Given the description of an element on the screen output the (x, y) to click on. 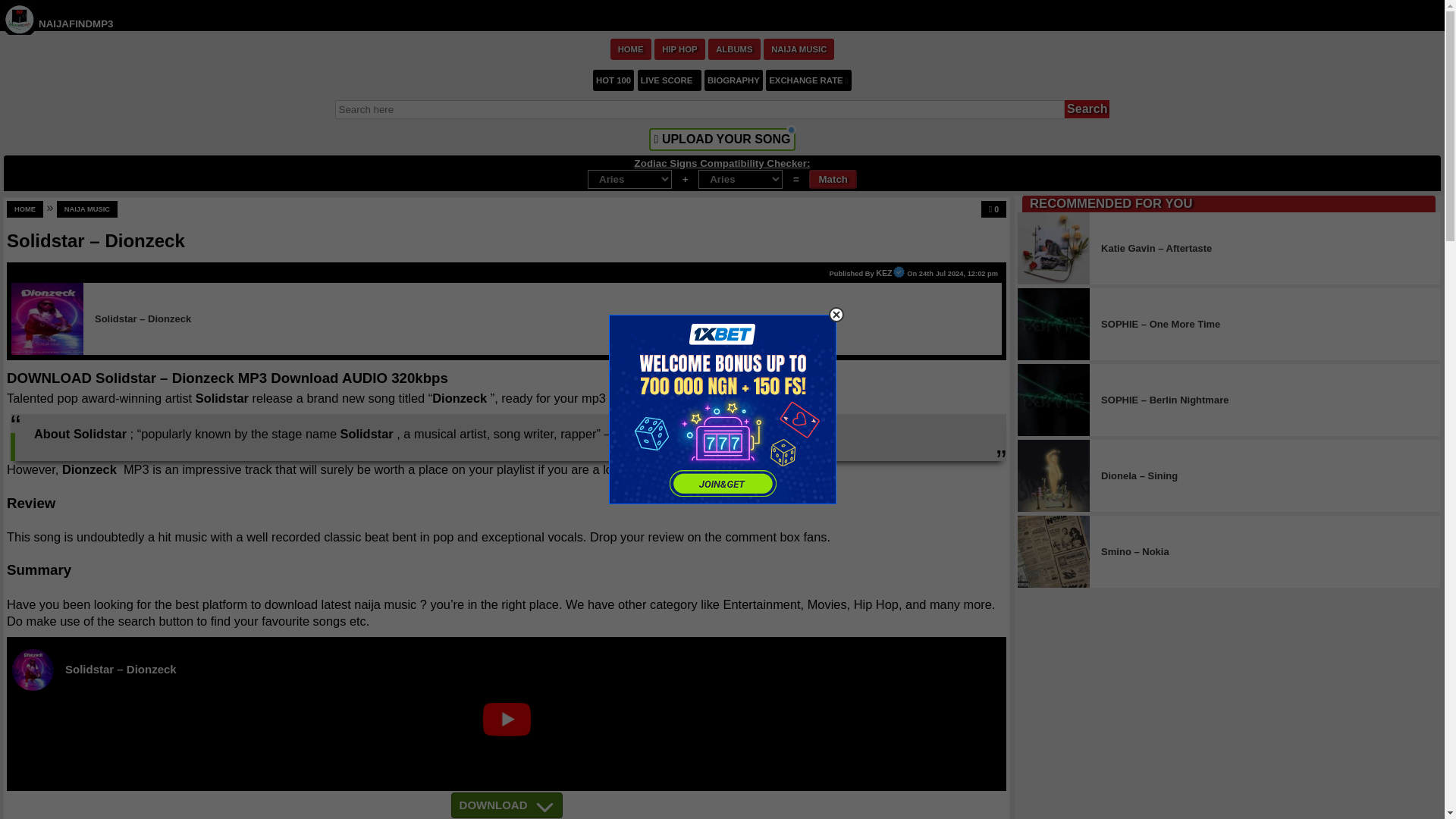
HOME (25, 208)
LIVE SCORE (669, 78)
mp3 download (621, 397)
NAIJAFINDMP3 (76, 23)
Movies (827, 603)
naija music (709, 468)
HIP HOP (678, 47)
ALBUMS (733, 47)
NAIJA MUSIC (798, 47)
Search (1086, 108)
EXCHANGE RATE (808, 78)
HOME (630, 47)
Hip Hop (875, 603)
Match (833, 179)
DOWNLOAD (506, 805)
